Given the description of an element on the screen output the (x, y) to click on. 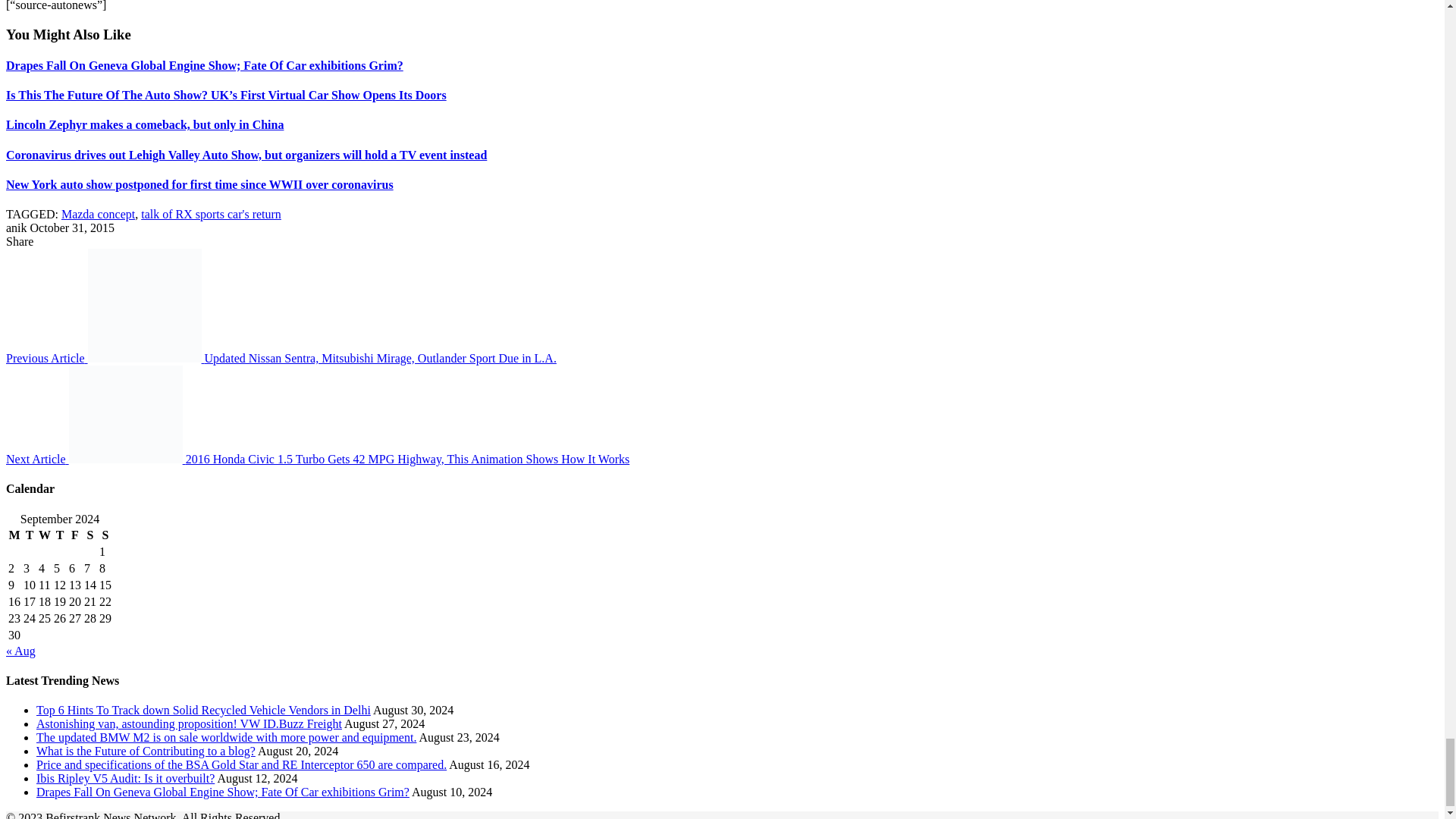
Wednesday (43, 534)
Saturday (89, 534)
Monday (14, 534)
Thursday (59, 534)
Tuesday (29, 534)
Sunday (105, 534)
Friday (74, 534)
